Given the description of an element on the screen output the (x, y) to click on. 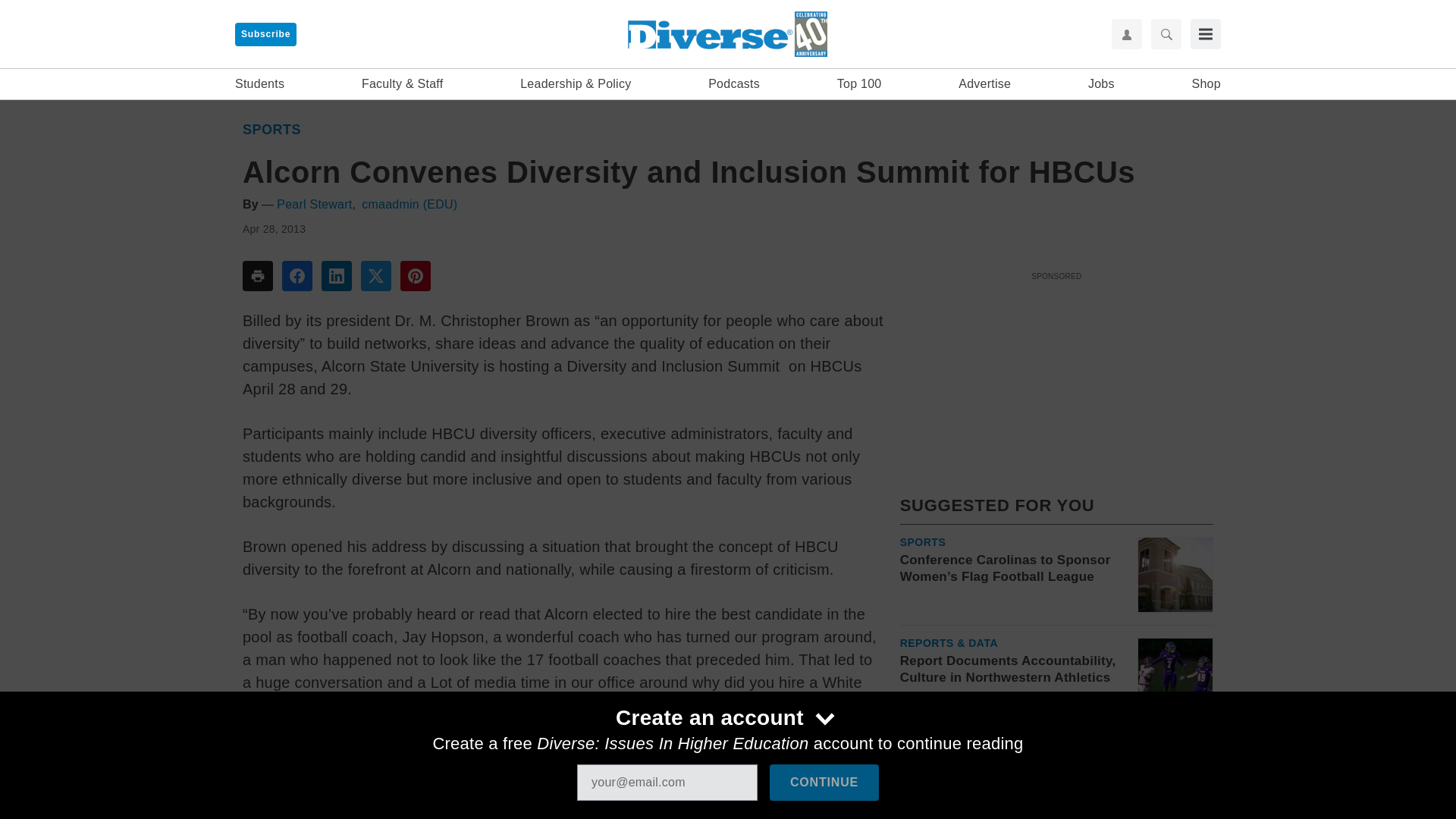
Sports (272, 129)
Share To pinterest (415, 276)
Advertise (984, 84)
Share To print (258, 276)
Shop (1206, 84)
Jobs (1101, 84)
Share To facebook (297, 276)
Top 100 (859, 84)
Podcasts (733, 84)
Sports (922, 542)
Subscribe (265, 33)
Share To twitter (376, 276)
Students (258, 84)
Youtube Player (1055, 371)
Share To linkedin (336, 276)
